Given the description of an element on the screen output the (x, y) to click on. 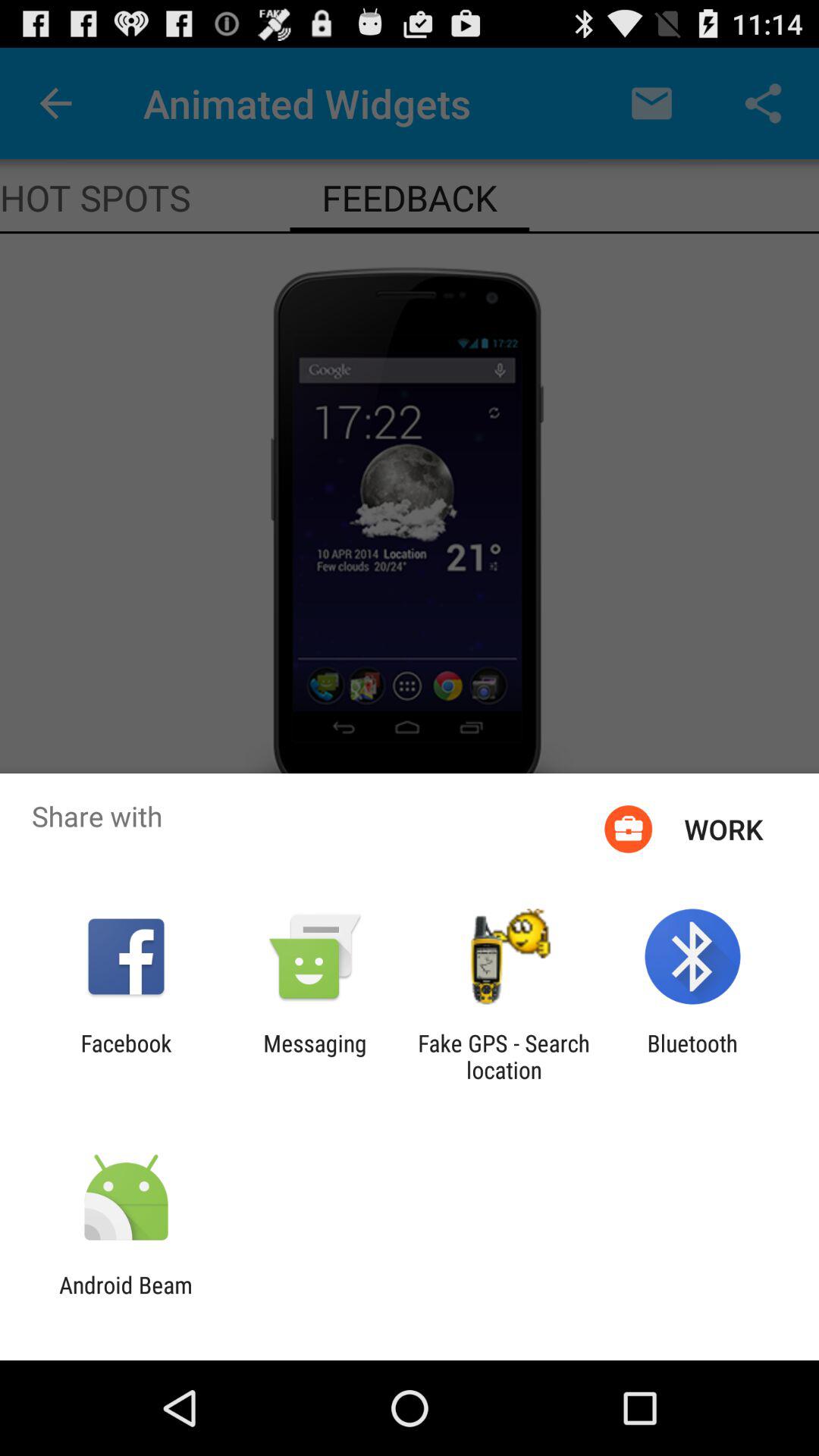
click item next to messaging icon (503, 1056)
